Given the description of an element on the screen output the (x, y) to click on. 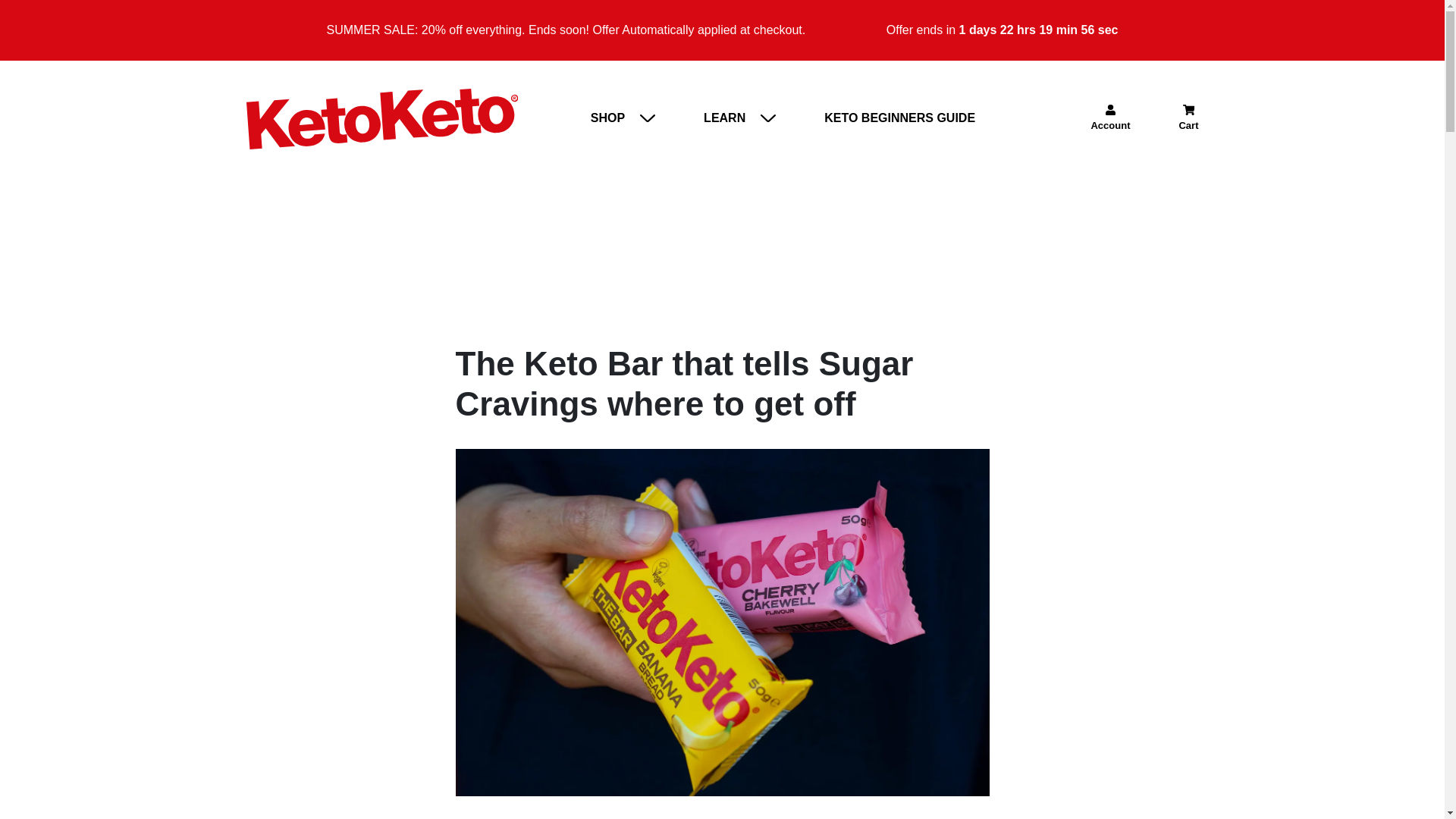
Cart (1188, 118)
KETO BEGINNERS GUIDE (898, 118)
Account (1109, 118)
